Given the description of an element on the screen output the (x, y) to click on. 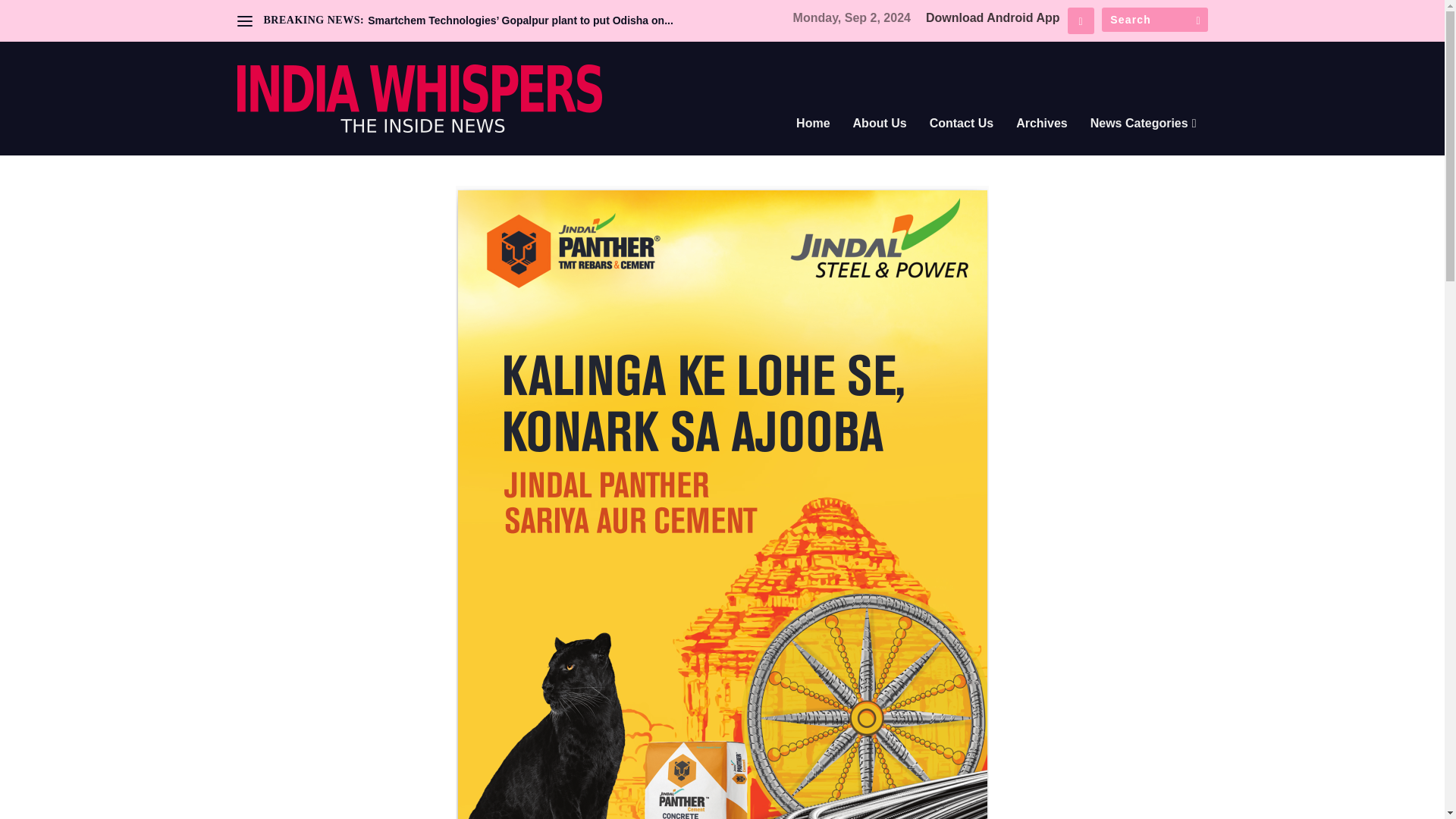
Download Android App (992, 17)
News Categories (1143, 143)
About Us (880, 143)
Search for: (1153, 19)
Contact Us (961, 143)
Archives (1041, 143)
